Given the description of an element on the screen output the (x, y) to click on. 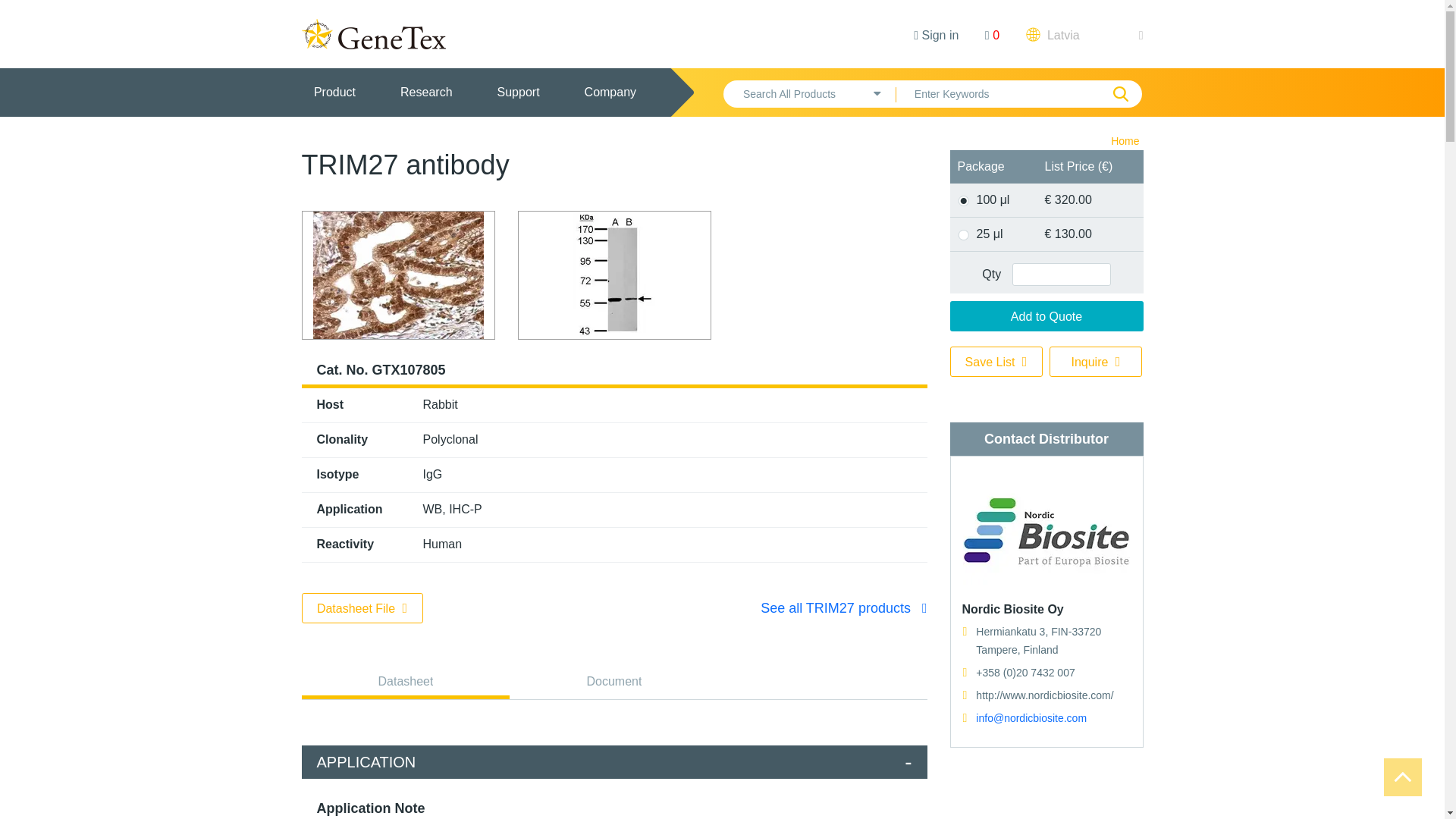
Sign in (936, 35)
Research (425, 92)
Home (1124, 141)
Support (518, 92)
Product (334, 92)
Latvia (1083, 35)
Company (610, 92)
GeneTex (373, 33)
